Given the description of an element on the screen output the (x, y) to click on. 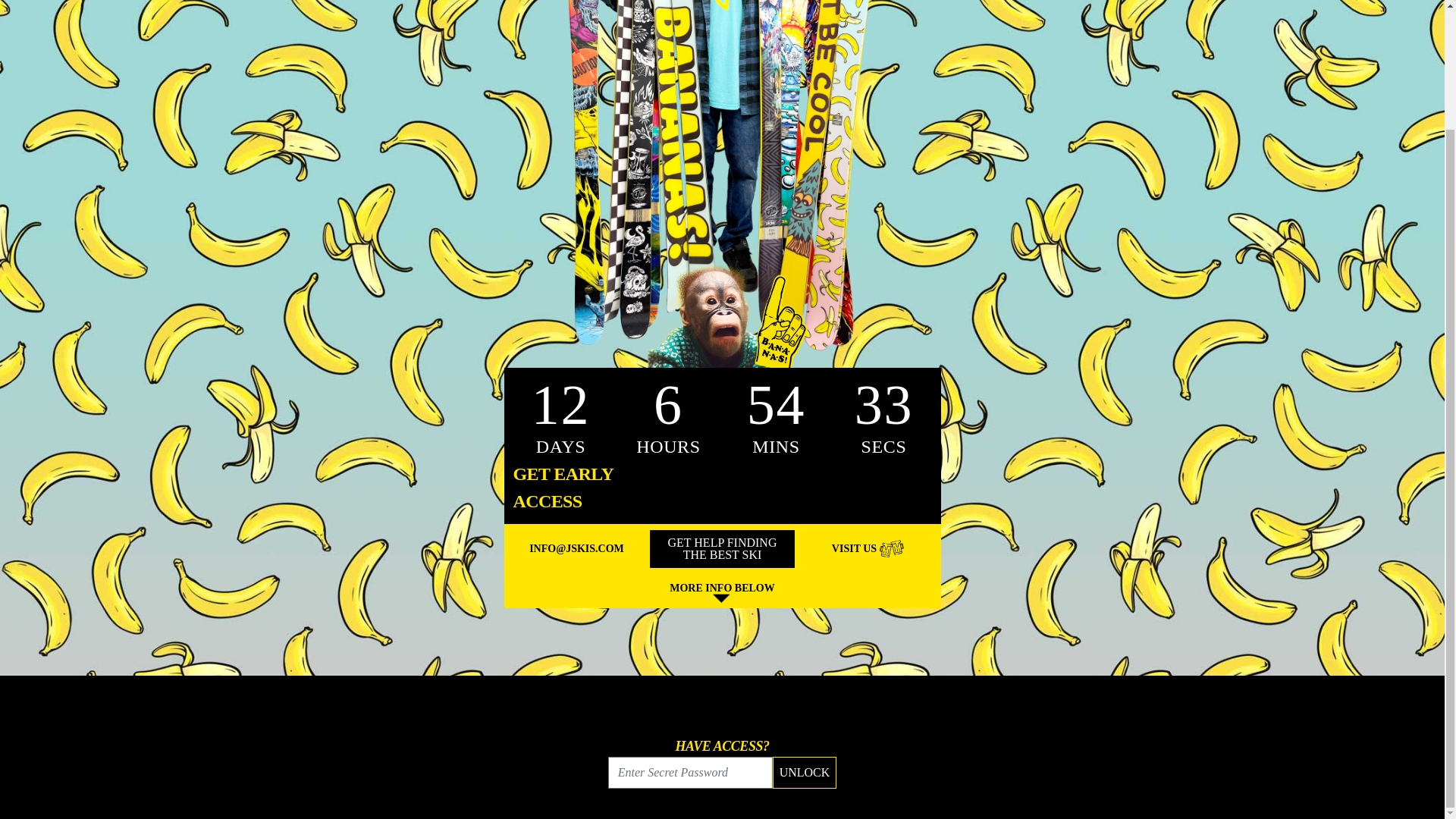
VISIT US (867, 549)
GET HELP FINDING THE BEST SKI (721, 548)
MORE INFO BELOW (721, 593)
UNLOCK (805, 772)
